Given the description of an element on the screen output the (x, y) to click on. 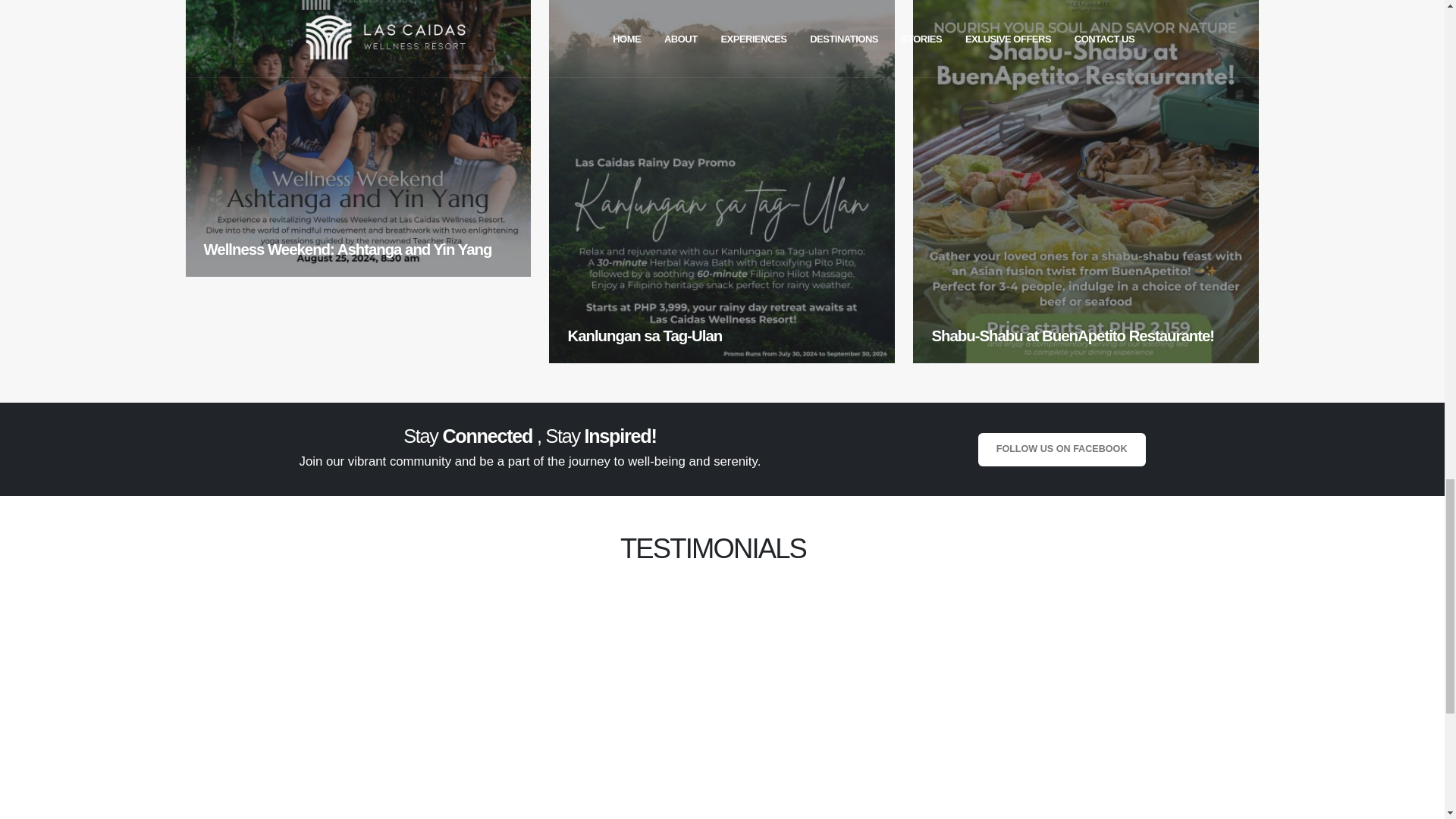
Shabu-Shabu at BuenApetito Restaurante! (1085, 181)
Wellness Weekend: Ashtanga and Yin Yang (357, 138)
Kanlungan sa Tag-Ulan (721, 181)
FOLLOW US ON FACEBOOK (1061, 449)
